Given the description of an element on the screen output the (x, y) to click on. 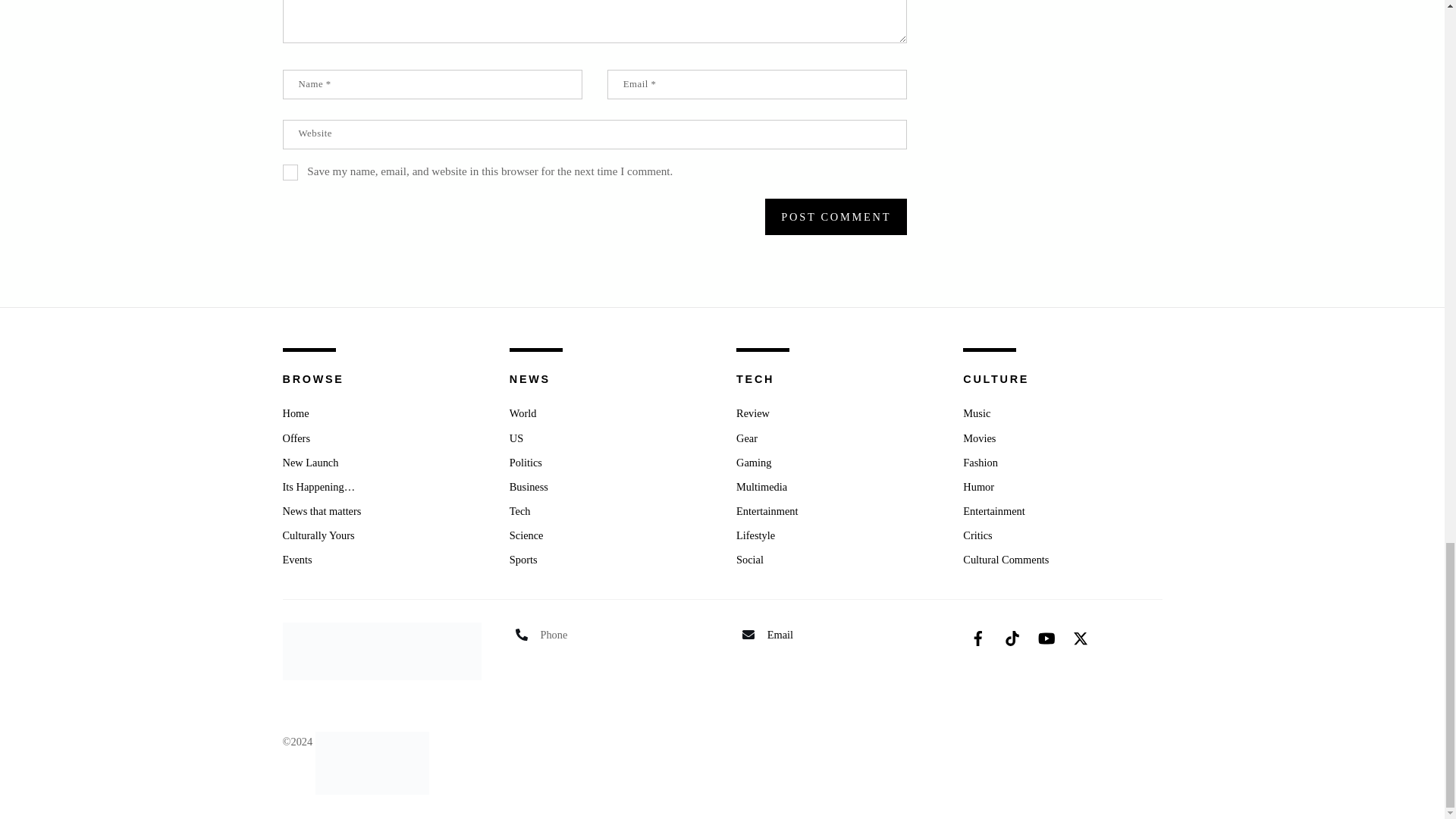
PlutonicTech (372, 741)
Post Comment (836, 217)
Post Comment (836, 217)
Plutonic Logo (372, 763)
logo (381, 651)
yes (290, 172)
